Given the description of an element on the screen output the (x, y) to click on. 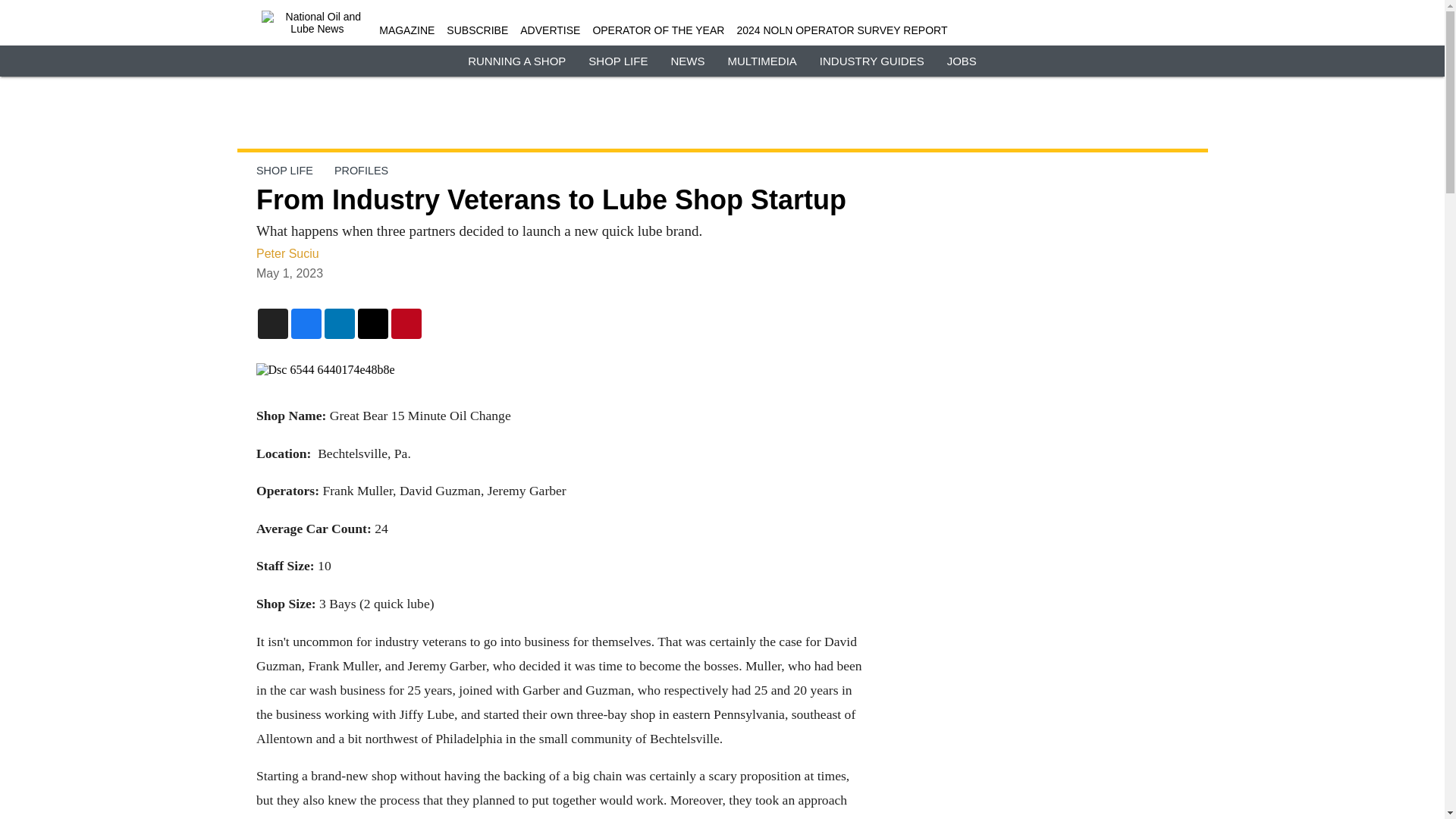
OPERATOR OF THE YEAR (657, 30)
NEWS (686, 60)
2024 NOLN OPERATOR SURVEY REPORT (841, 30)
SHOP LIFE (617, 60)
Dsc 6544 6440174e48b8e (560, 369)
Peter Suciu (287, 253)
SUBSCRIBE (477, 30)
MULTIMEDIA (761, 60)
ADVERTISE (549, 30)
MAGAZINE (405, 30)
INDUSTRY GUIDES (871, 60)
RUNNING A SHOP (516, 60)
SHOP LIFE (284, 170)
JOBS (961, 60)
PROFILES (360, 170)
